Given the description of an element on the screen output the (x, y) to click on. 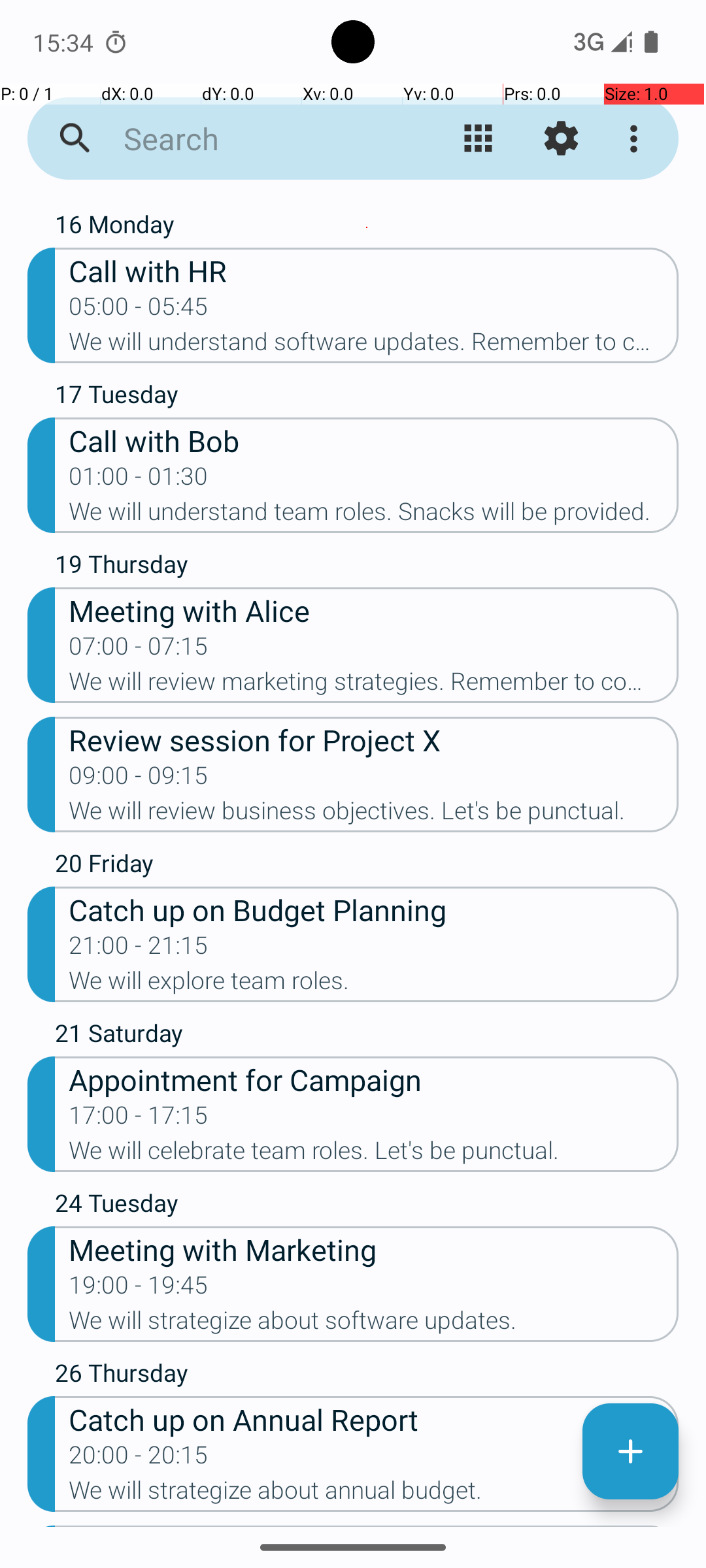
21 Saturday Element type: android.widget.TextView (366, 1035)
26 Thursday Element type: android.widget.TextView (366, 1375)
05:00 - 05:45 Element type: android.widget.TextView (137, 309)
We will understand software updates. Remember to confirm attendance. Element type: android.widget.TextView (373, 345)
01:00 - 01:30 Element type: android.widget.TextView (137, 479)
We will understand team roles. Snacks will be provided. Element type: android.widget.TextView (373, 515)
07:00 - 07:15 Element type: android.widget.TextView (137, 649)
We will review marketing strategies. Remember to confirm attendance. Element type: android.widget.TextView (373, 684)
09:00 - 09:15 Element type: android.widget.TextView (137, 779)
We will review business objectives. Let's be punctual. Element type: android.widget.TextView (373, 814)
21:00 - 21:15 Element type: android.widget.TextView (137, 948)
We will explore team roles. Element type: android.widget.TextView (373, 984)
17:00 - 17:15 Element type: android.widget.TextView (137, 1118)
We will celebrate team roles. Let's be punctual. Element type: android.widget.TextView (373, 1154)
19:00 - 19:45 Element type: android.widget.TextView (137, 1288)
We will strategize about software updates. Element type: android.widget.TextView (373, 1323)
20:00 - 20:15 Element type: android.widget.TextView (137, 1458)
We will strategize about annual budget. Element type: android.widget.TextView (373, 1493)
